Given the description of an element on the screen output the (x, y) to click on. 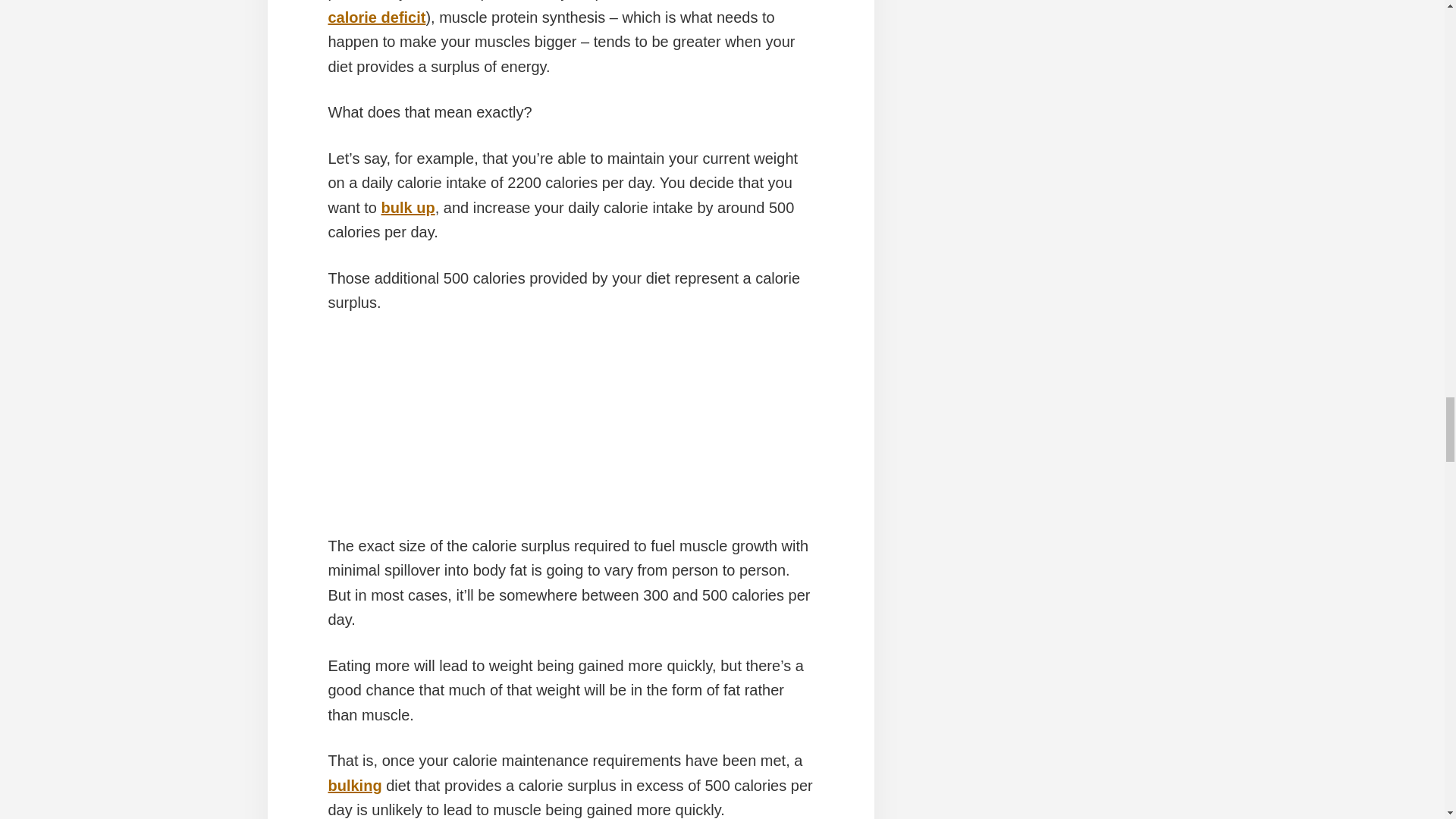
build muscle in a calorie deficit (560, 12)
bulking (354, 785)
bulk up (408, 207)
